Given the description of an element on the screen output the (x, y) to click on. 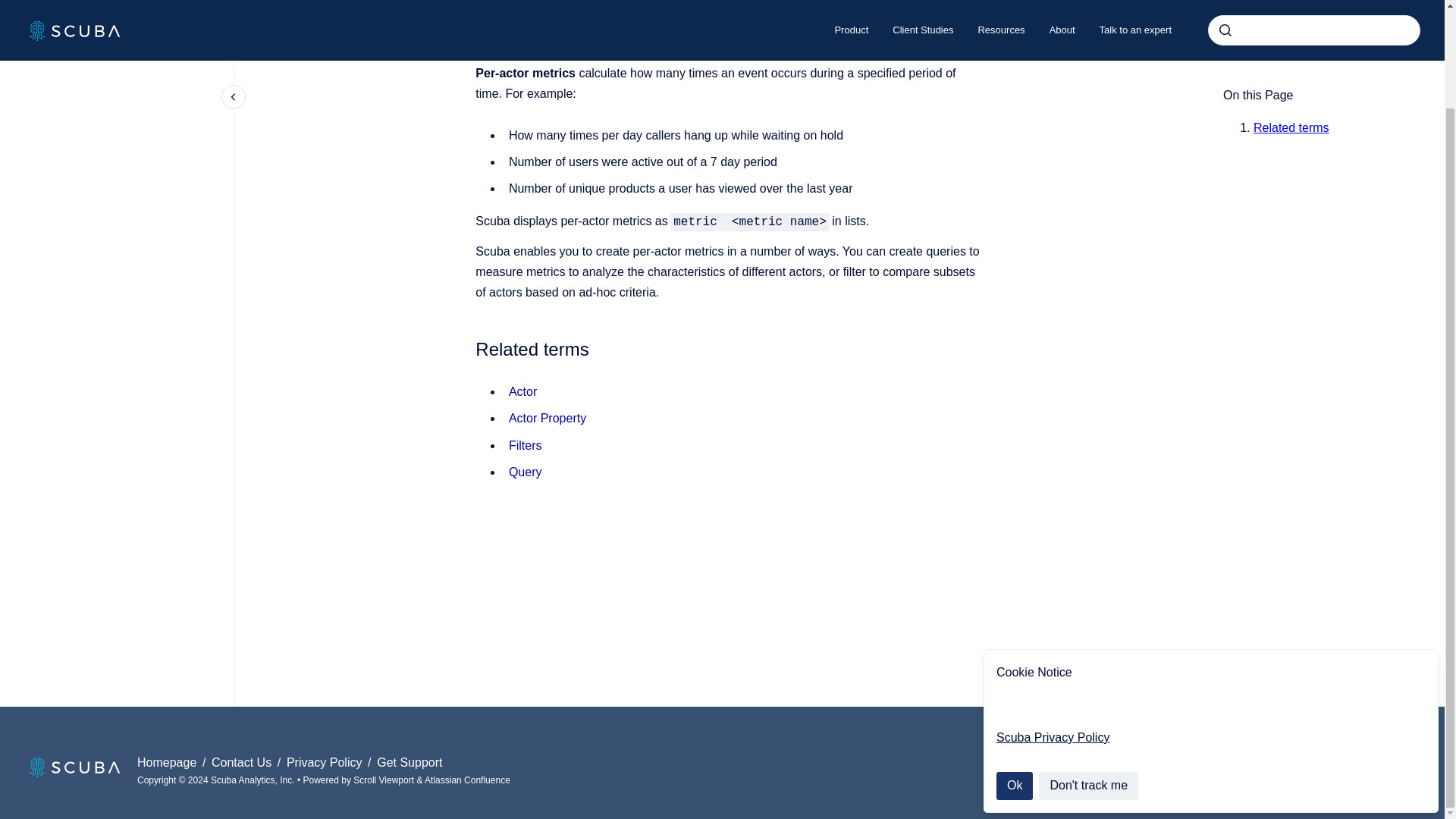
Privacy Policy (325, 762)
Actor Property (547, 418)
Query (524, 472)
Filters (524, 445)
Ok (1013, 672)
Atlassian Confluence (468, 779)
Homepage (168, 762)
Get Support (409, 762)
Don't track me (1088, 672)
Actor (522, 391)
